Given the description of an element on the screen output the (x, y) to click on. 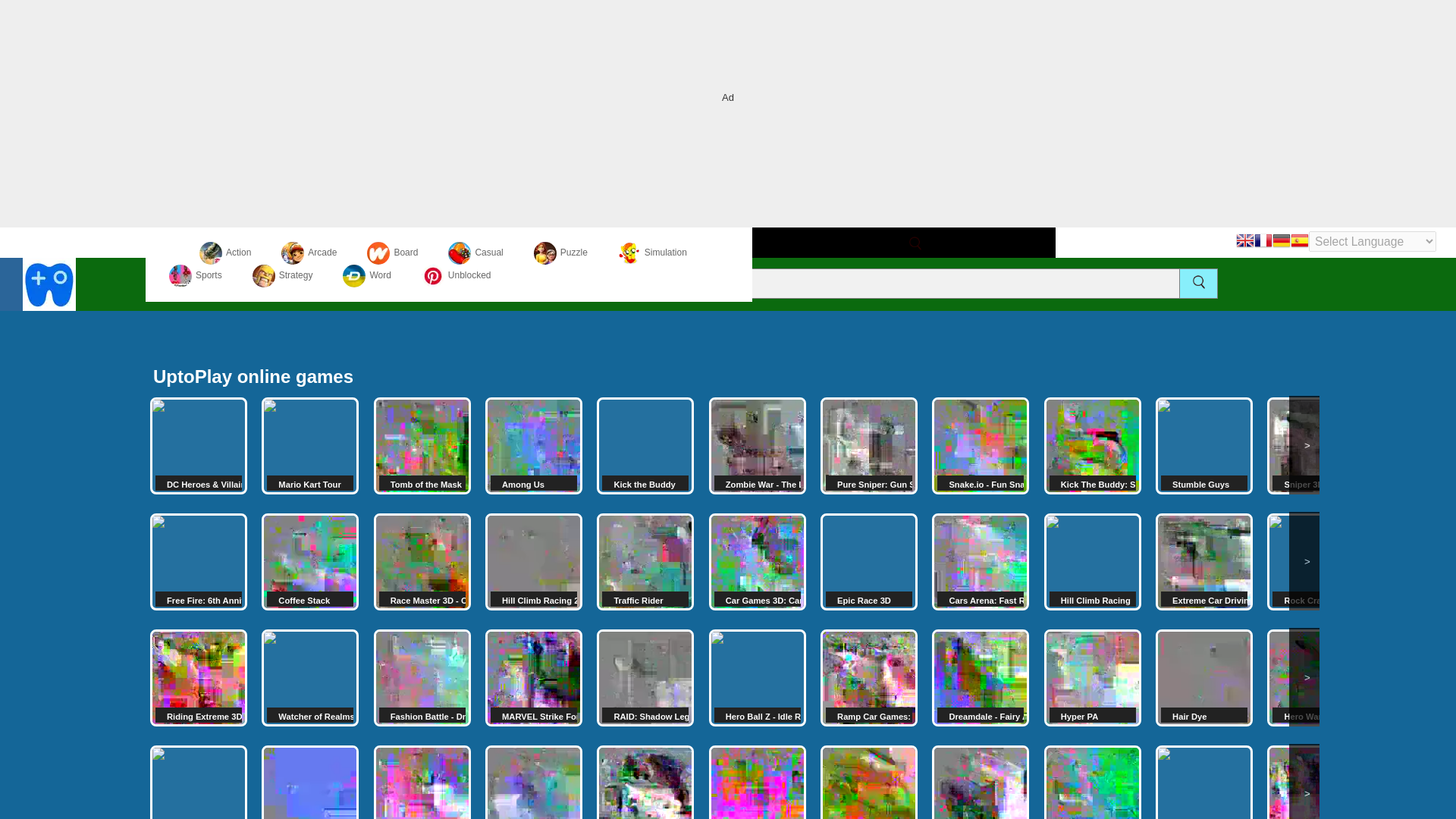
Kick The Buddy: Second Kick (1092, 445)
Sport games online (195, 275)
Strategy games online (282, 275)
Word games online (366, 275)
Among Us (533, 445)
Puzzle (561, 252)
Puzzle games online (561, 252)
Arcade games online (308, 252)
Car Games 3D: Car Racing (757, 561)
Coffee Stack (310, 561)
Epic Race 3D (869, 561)
Cars Arena: Fast Race 3D (980, 561)
Action (224, 252)
Traffic Rider (645, 561)
Stumble Guys (1204, 445)
